Given the description of an element on the screen output the (x, y) to click on. 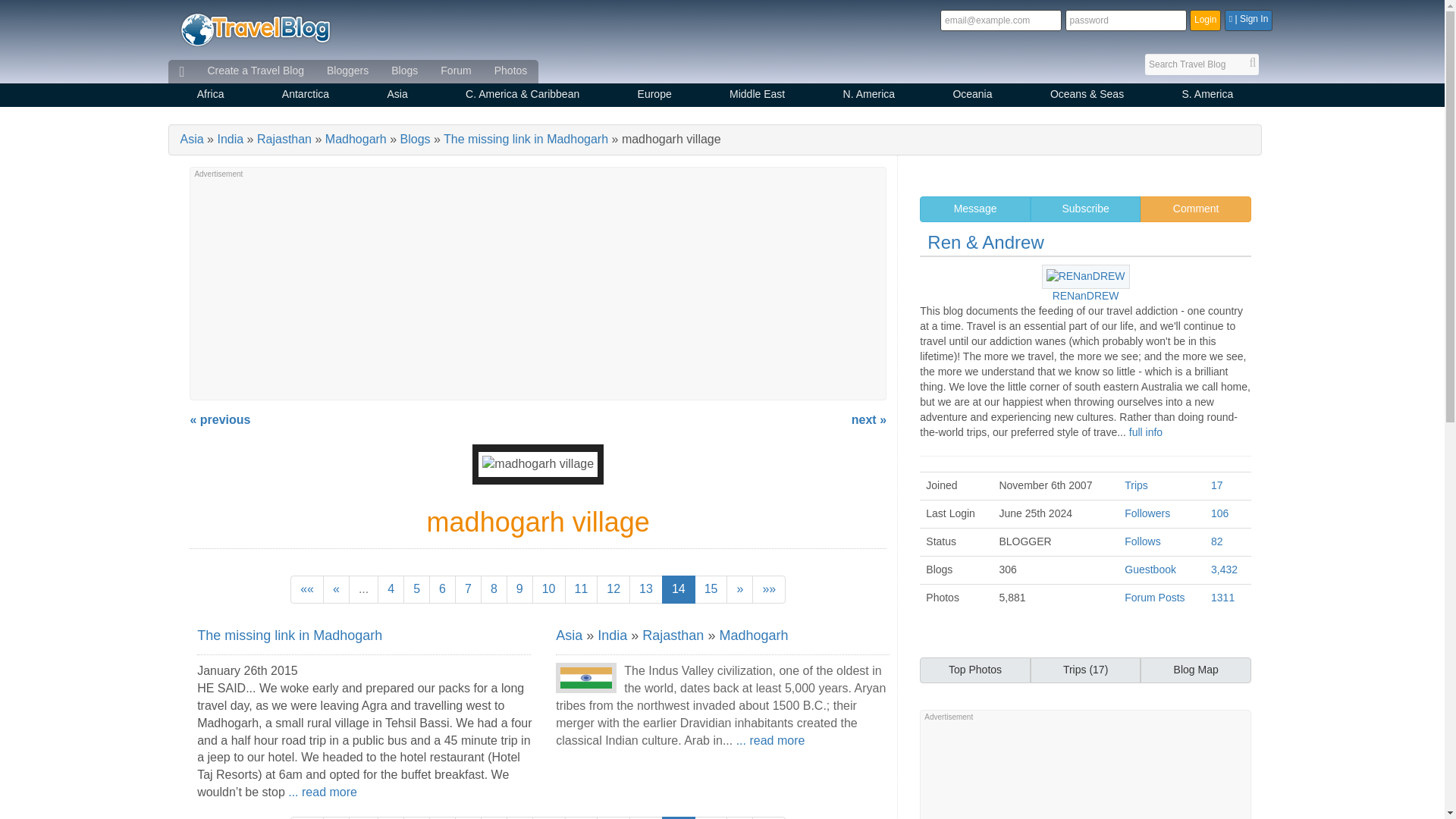
Login (1205, 20)
Oceania (972, 95)
Sign in with Facebook (1248, 20)
First (306, 589)
Middle East (756, 95)
Create a Travel Blog (255, 71)
madhogarh village (537, 464)
Bloggers (347, 71)
Login (1205, 20)
N. America (868, 95)
Antarctica (305, 95)
S. America (1207, 95)
next (739, 589)
Europe (654, 95)
Last (769, 589)
